Given the description of an element on the screen output the (x, y) to click on. 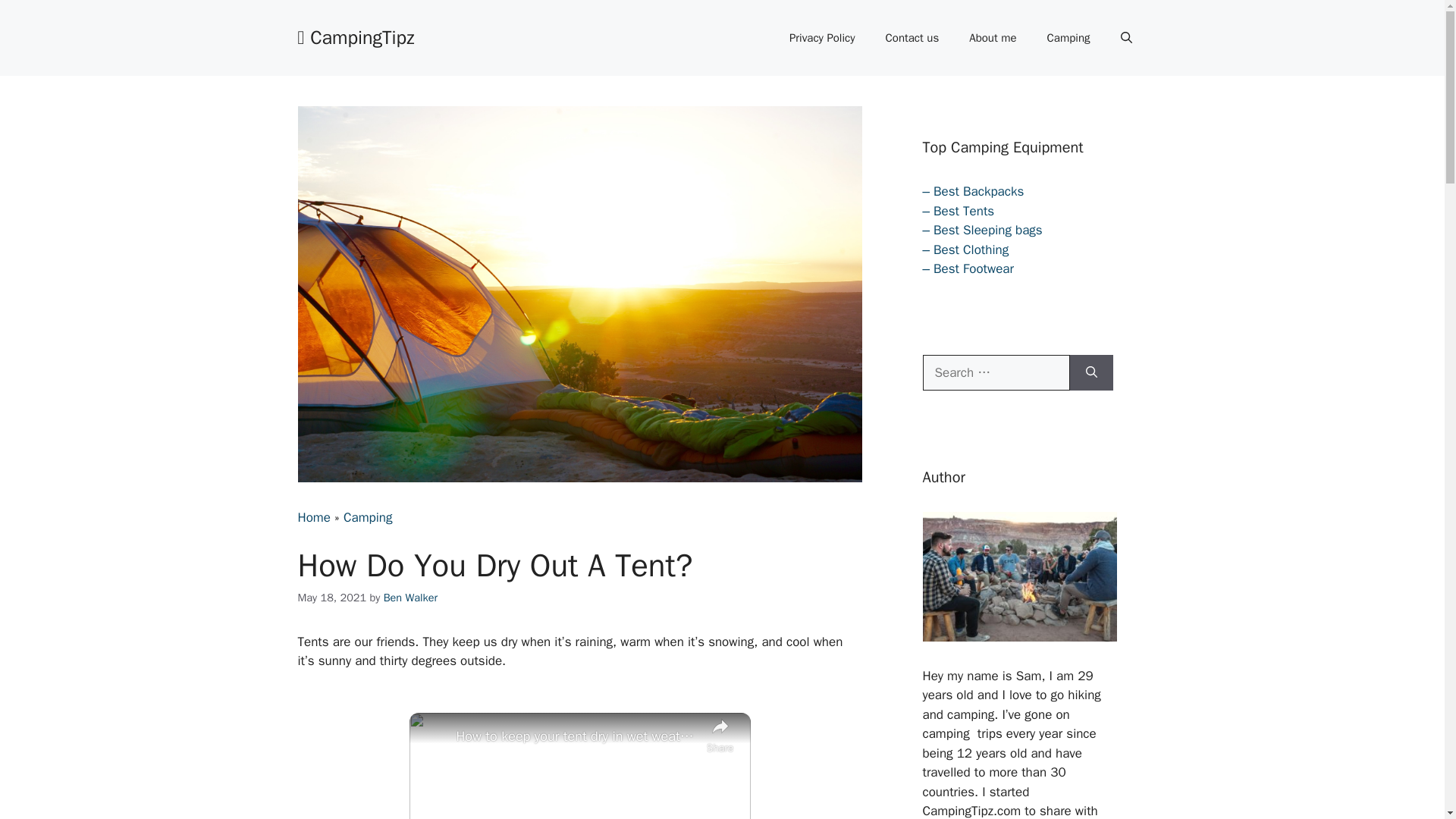
How to keep your tent dry in wet weather conditions. (577, 736)
Ben Walker (411, 597)
Camping (368, 517)
Privacy Policy (822, 37)
Camping (1068, 37)
Home (313, 517)
About me (991, 37)
View all posts by Ben Walker (411, 597)
Contact us (912, 37)
